Given the description of an element on the screen output the (x, y) to click on. 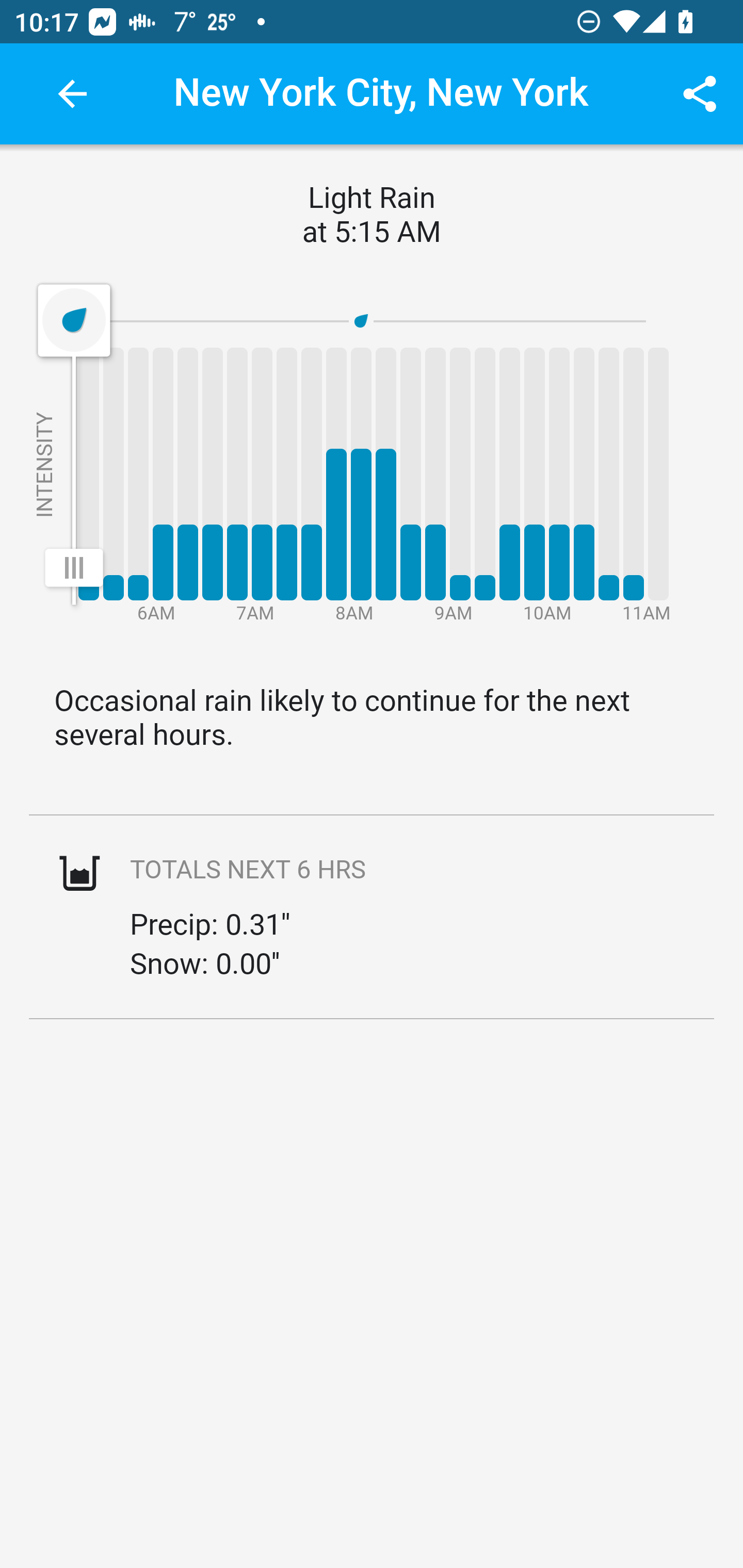
back (71, 93)
Share (699, 93)
